Given the description of an element on the screen output the (x, y) to click on. 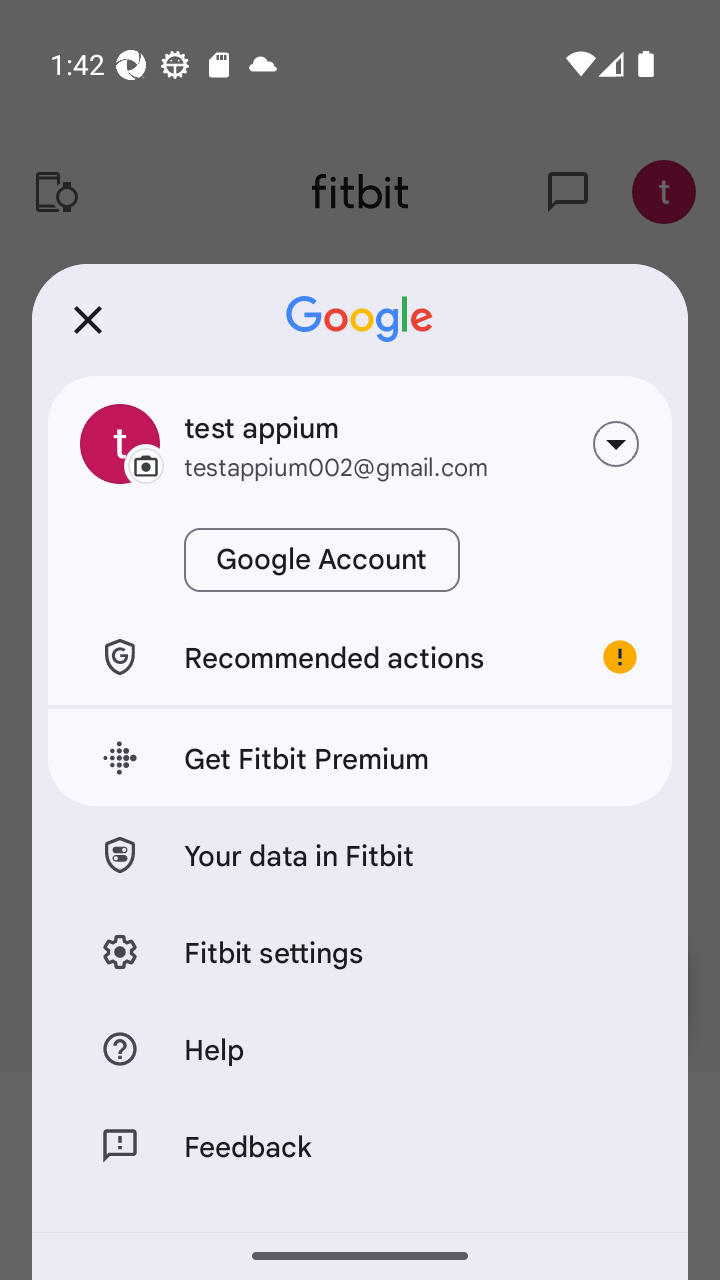
Close (87, 319)
Change profile picture. (119, 443)
Google Account (322, 560)
Recommended actions Important account alert (359, 656)
Get Fitbit Premium (359, 757)
Your data in Fitbit (360, 854)
Fitbit settings (360, 950)
Help (360, 1047)
Feedback (360, 1145)
